Given the description of an element on the screen output the (x, y) to click on. 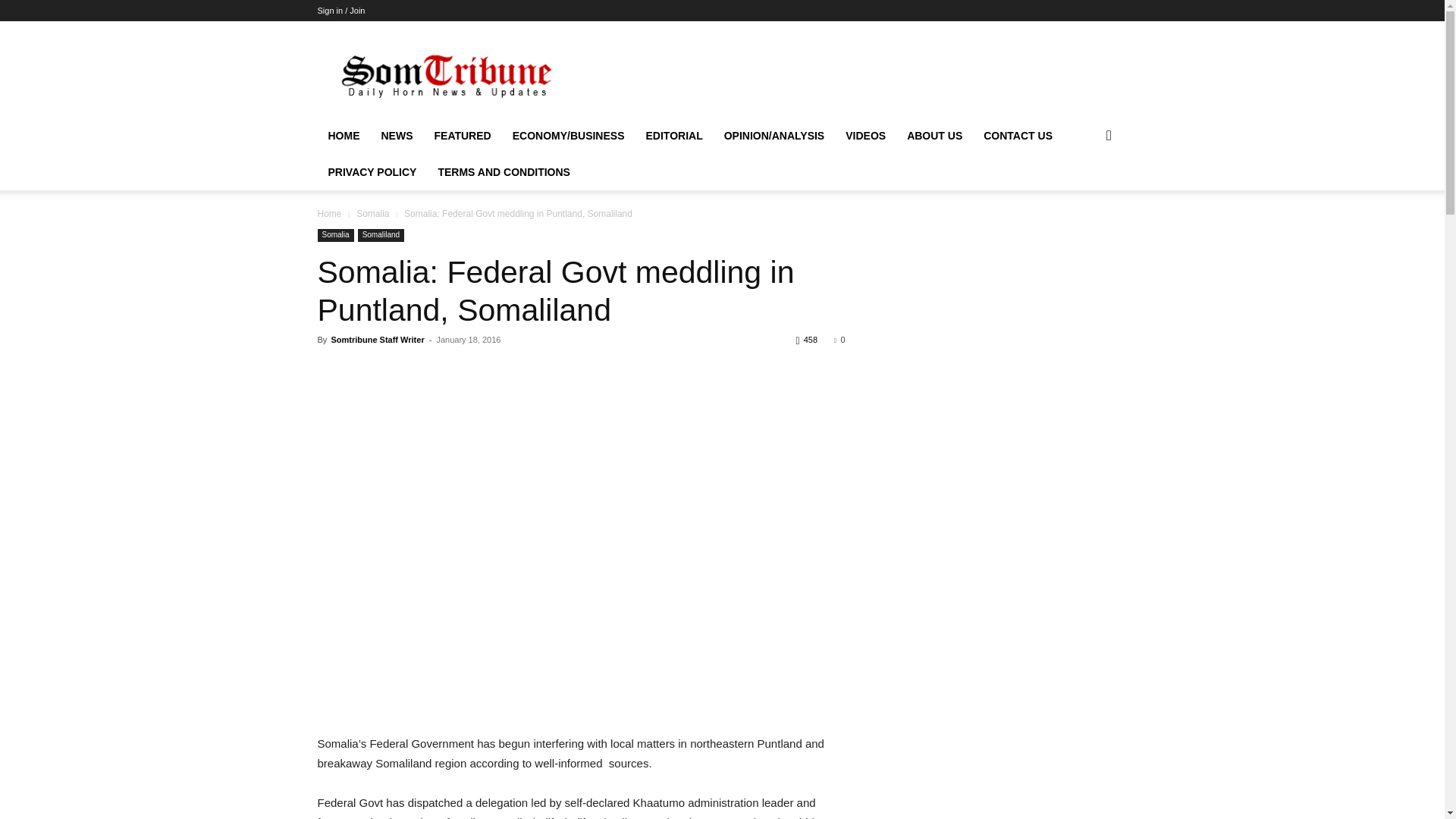
NEWS (396, 135)
HOME (343, 135)
